Given the description of an element on the screen output the (x, y) to click on. 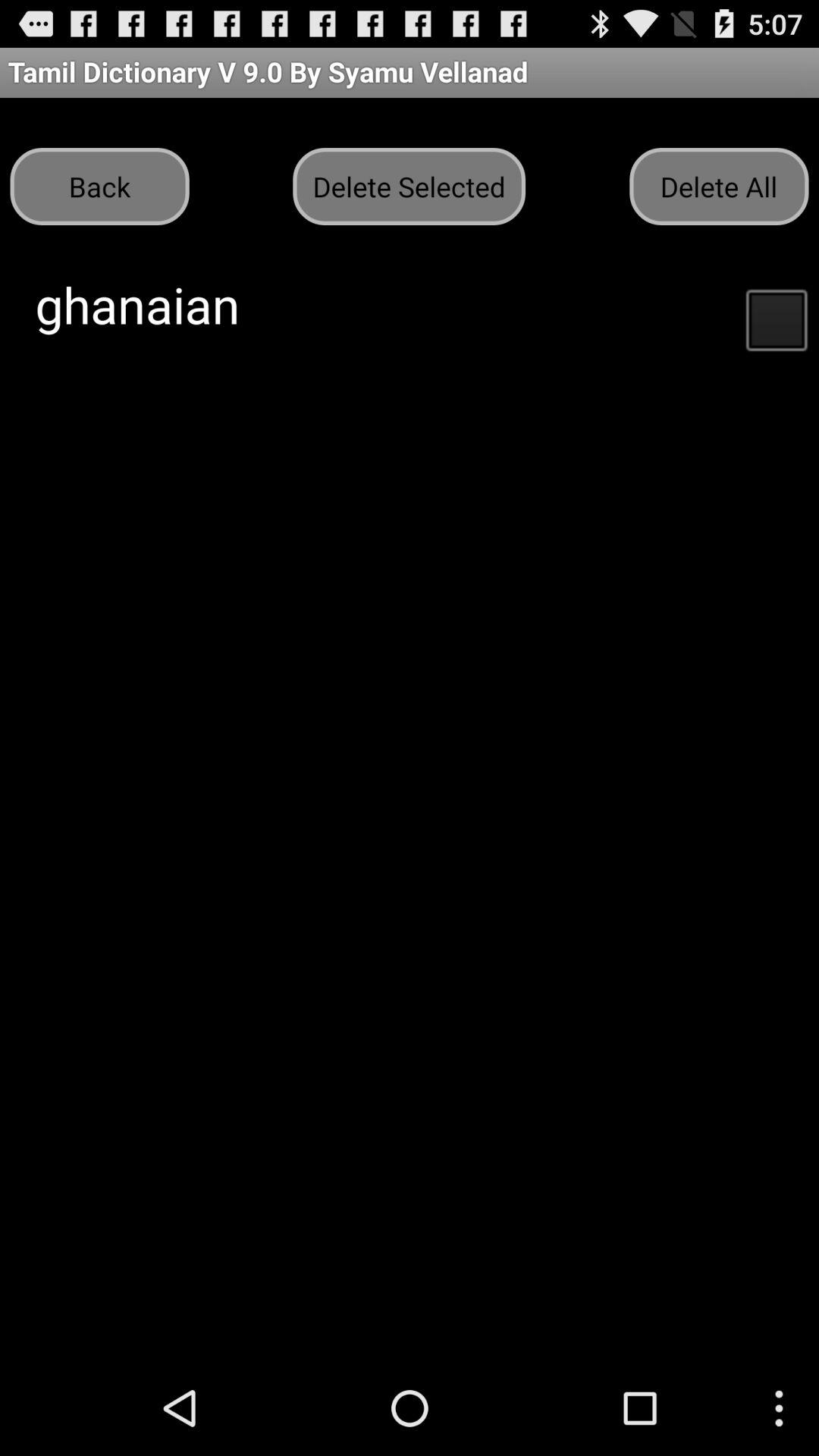
press icon below tamil dictionary v app (718, 186)
